Given the description of an element on the screen output the (x, y) to click on. 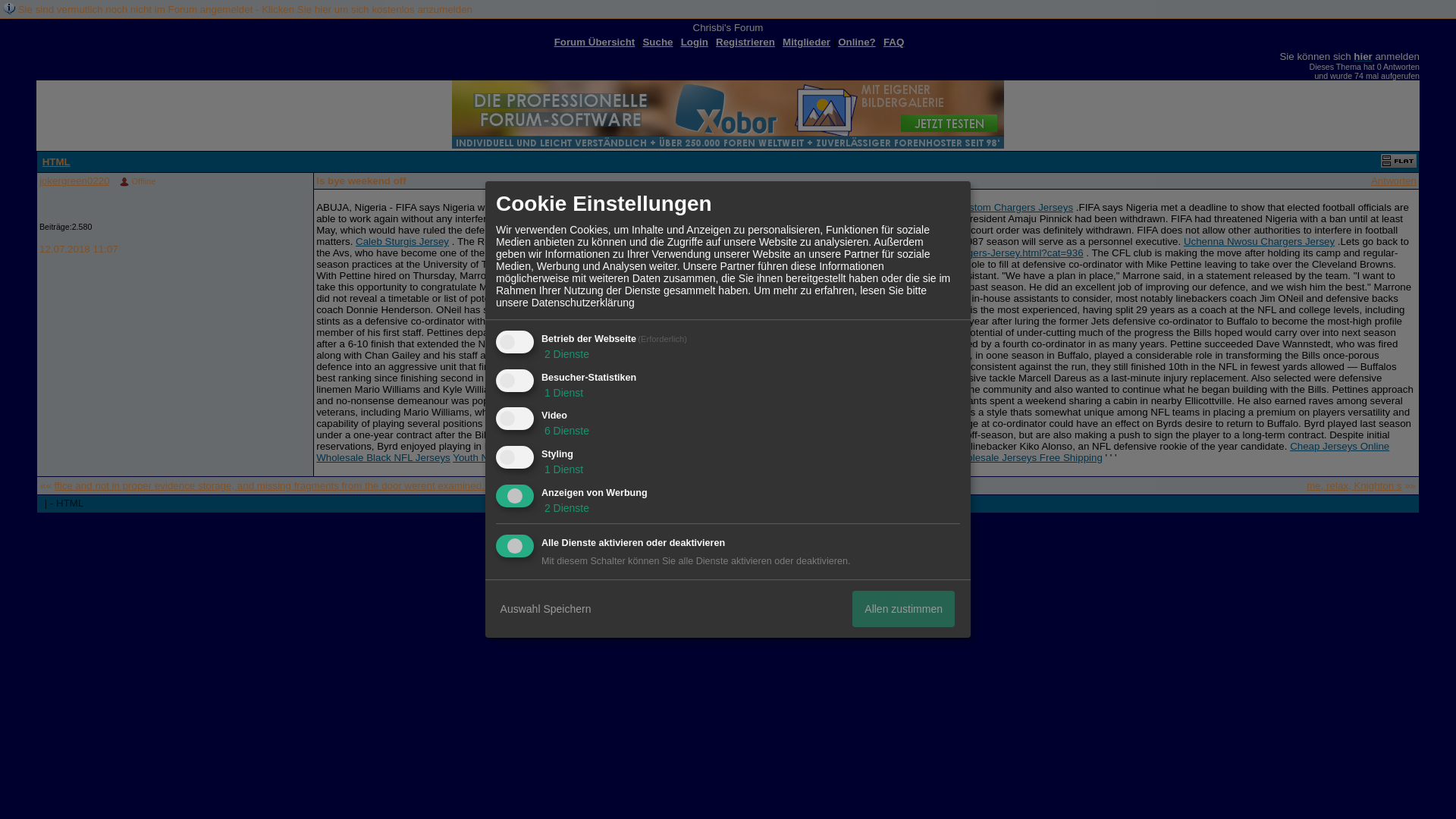
Wholesale Jerseys Free Shipping (1027, 457)
Uchenna Nwosu Jersey (804, 366)
hier (1362, 56)
HTML (55, 161)
jokergreen0220 (74, 180)
Youth NFL Jerseys Wholesale (520, 457)
Online? (857, 41)
Login (694, 41)
Wholesale NFL Jerseys (896, 457)
1 Dienst (562, 392)
